Given the description of an element on the screen output the (x, y) to click on. 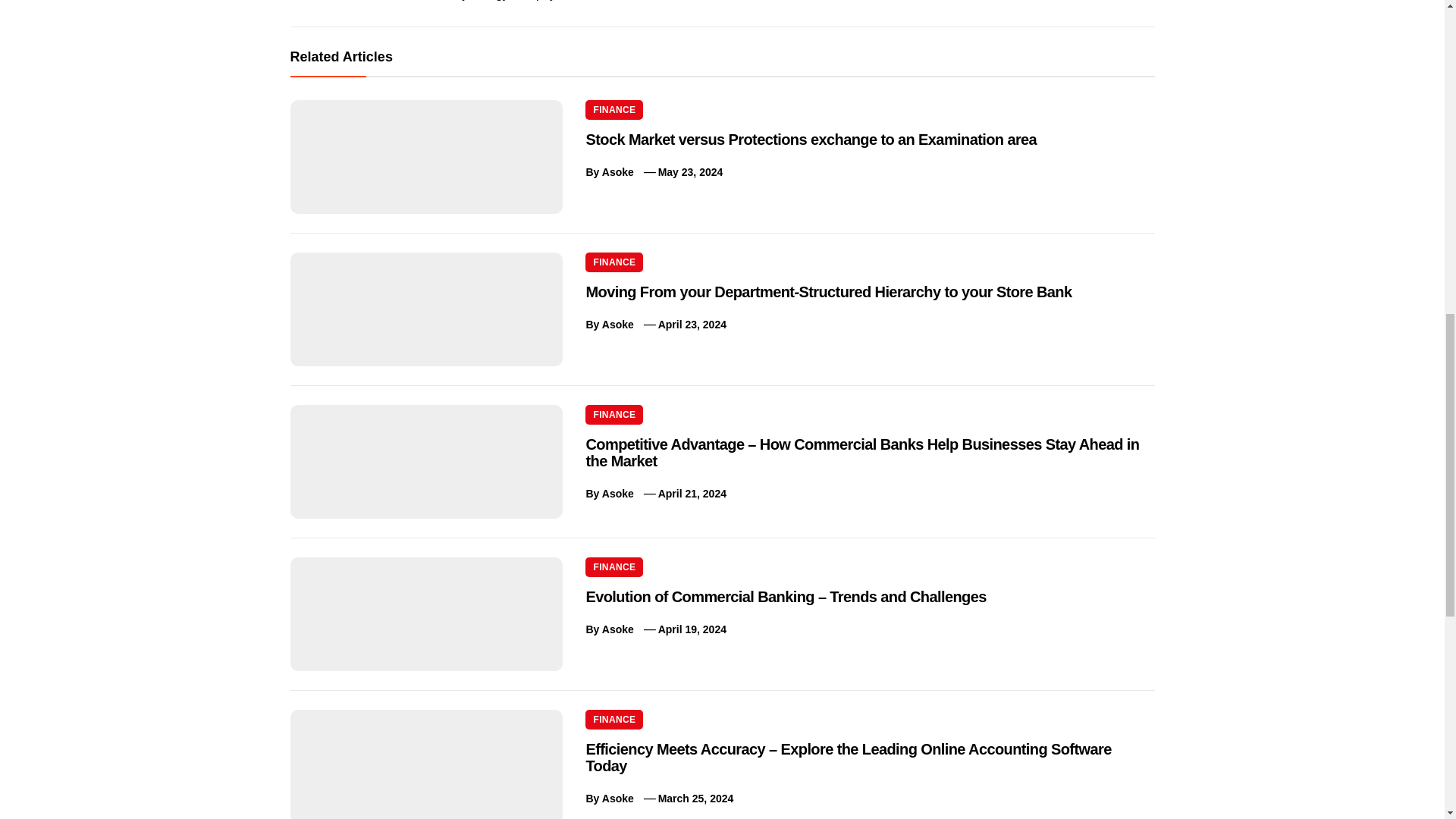
Asoke (617, 493)
Asoke (617, 324)
April 23, 2024 (692, 324)
FINANCE (614, 414)
FINANCE (614, 261)
April 21, 2024 (692, 493)
FINANCE (614, 567)
Asoke (617, 172)
Asoke (617, 629)
FINANCE (614, 109)
May 23, 2024 (690, 172)
